Given the description of an element on the screen output the (x, y) to click on. 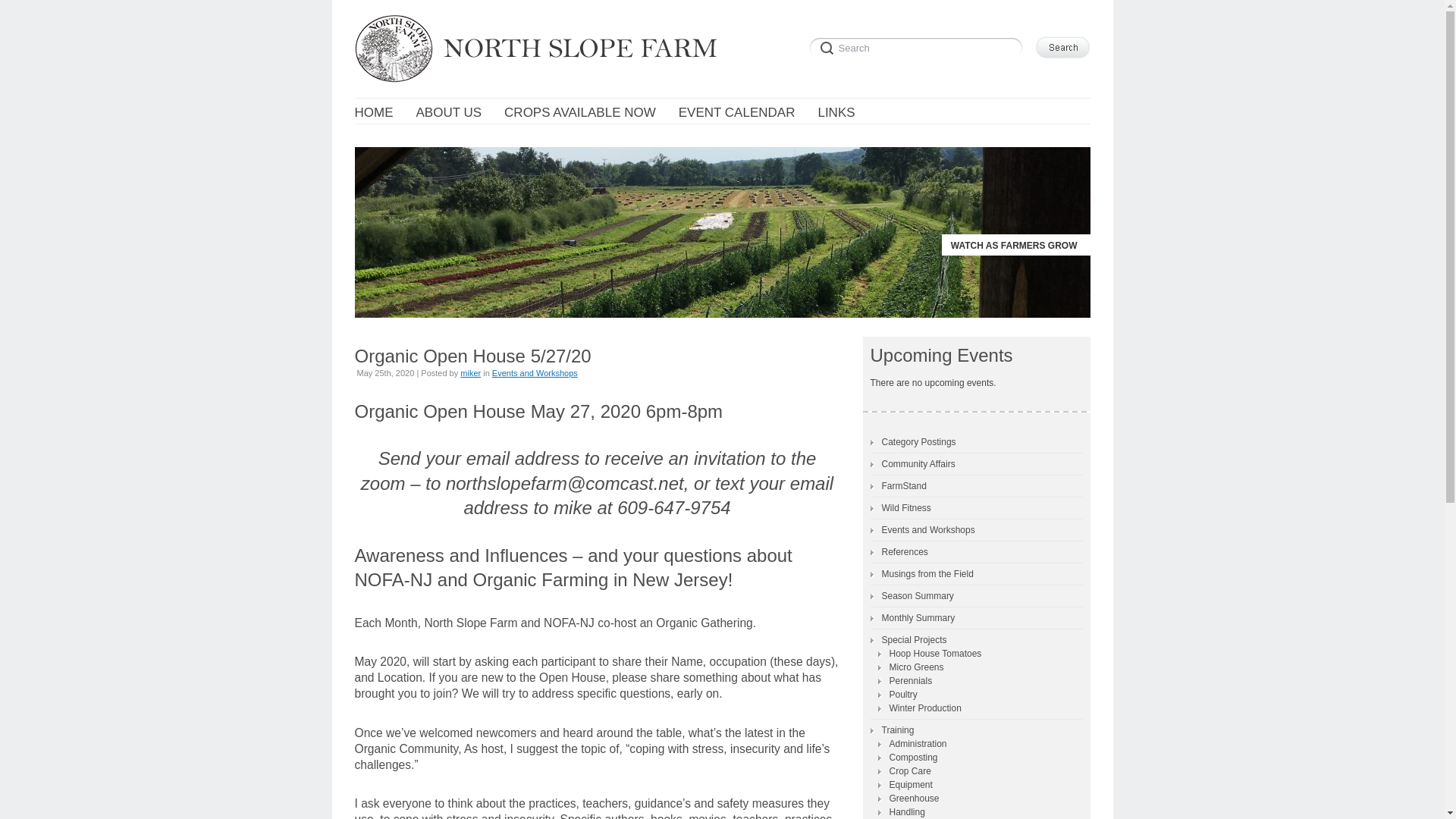
Search (918, 45)
Handling (900, 811)
Season Summary (911, 596)
Musings from the Field (922, 573)
ABOUT US (447, 112)
Upcoming Events (941, 354)
Infrastructure (910, 818)
References (899, 551)
search (918, 45)
View all posts by miker (470, 372)
